Given the description of an element on the screen output the (x, y) to click on. 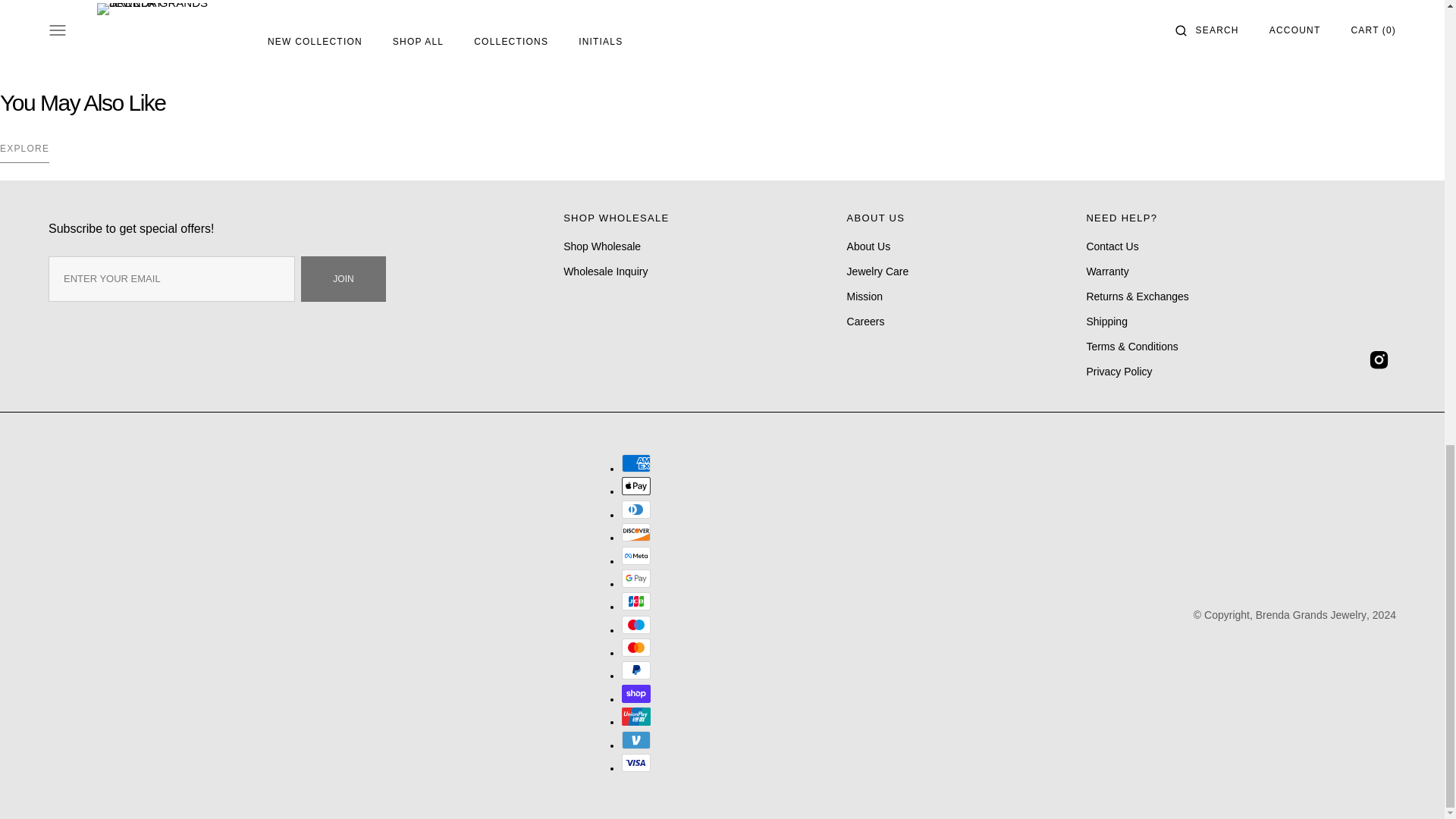
American Express (635, 463)
Diners Club (635, 509)
Apple Pay (635, 485)
Mastercard (635, 647)
Maestro (635, 624)
Meta Pay (635, 556)
JCB (635, 601)
Shop Pay (635, 693)
Discover (635, 532)
PayPal (635, 669)
